Given the description of an element on the screen output the (x, y) to click on. 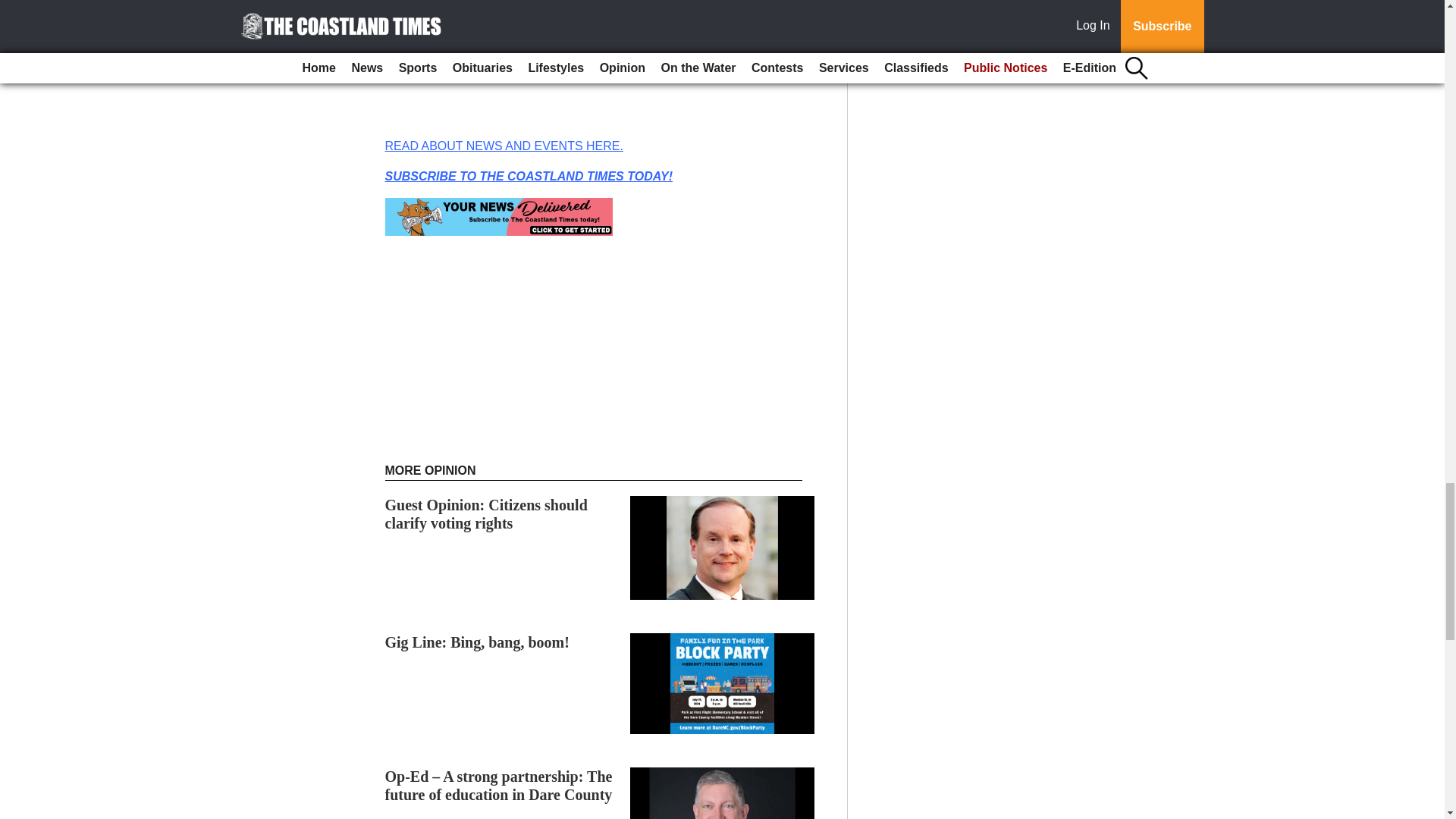
Gig Line: Bing, bang, boom! (477, 641)
SUBSCRIBE TO THE COASTLAND TIMES TODAY! (528, 175)
Gig Line: Bing, bang, boom! (477, 641)
Guest Opinion: Citizens should clarify voting rights (486, 513)
Guest Opinion: Citizens should clarify voting rights (486, 513)
READ ABOUT NEWS AND EVENTS HERE. (504, 145)
